Given the description of an element on the screen output the (x, y) to click on. 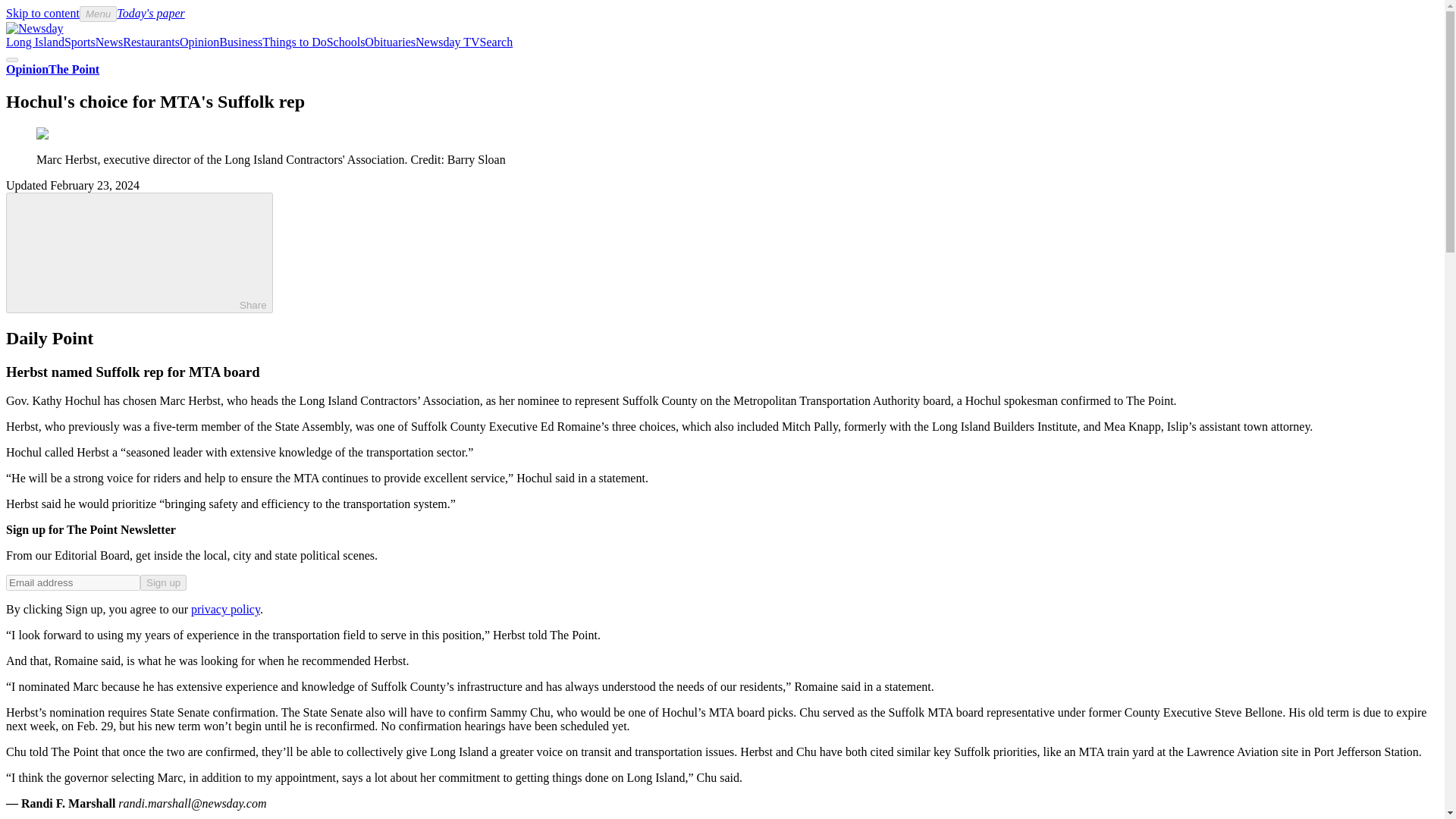
Opinion (199, 42)
Today's paper (150, 12)
Restaurants (150, 42)
Menu (98, 13)
Skip to content (42, 12)
Business (240, 42)
Schools (345, 42)
Share (139, 252)
Sports (80, 42)
Sign up (162, 582)
Long Island (34, 42)
Things to Do (294, 42)
Newsday TV (447, 42)
Opinion (26, 69)
News (109, 42)
